Given the description of an element on the screen output the (x, y) to click on. 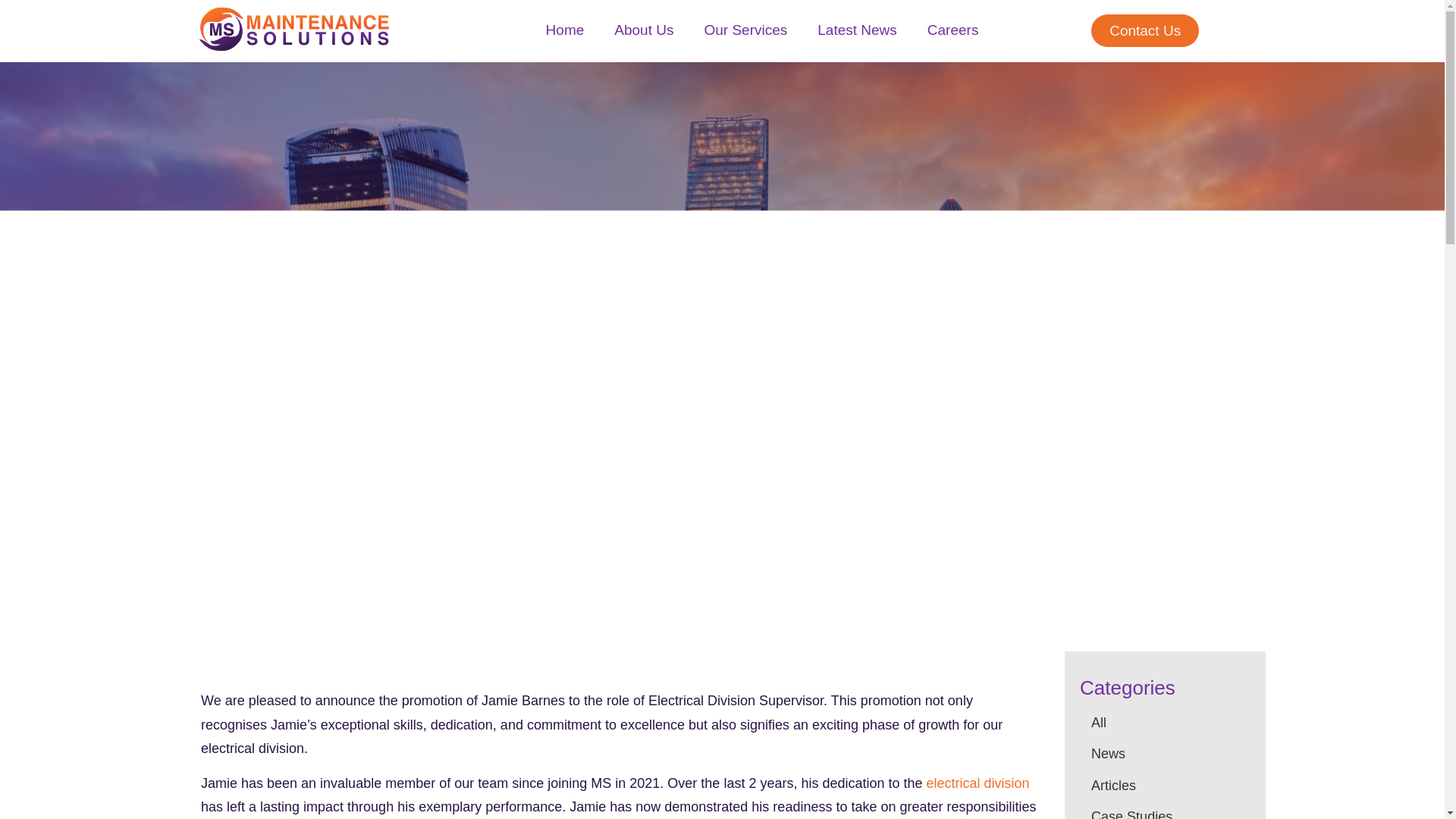
Careers (953, 30)
Our Services (745, 30)
Contact Us (1144, 29)
Latest News (857, 30)
About Us (643, 30)
Home (565, 30)
